Given the description of an element on the screen output the (x, y) to click on. 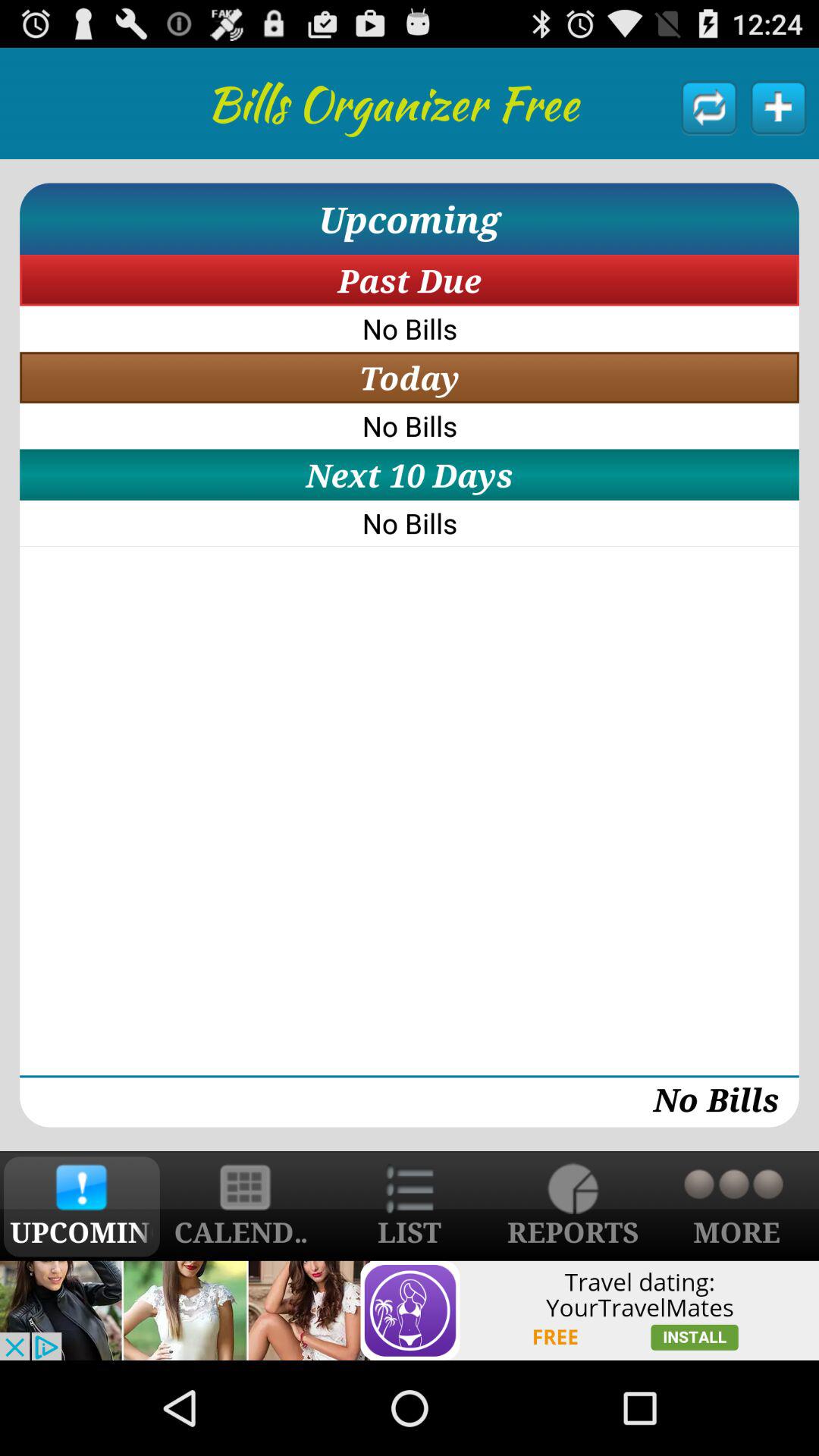
refresh the list (709, 107)
